Given the description of an element on the screen output the (x, y) to click on. 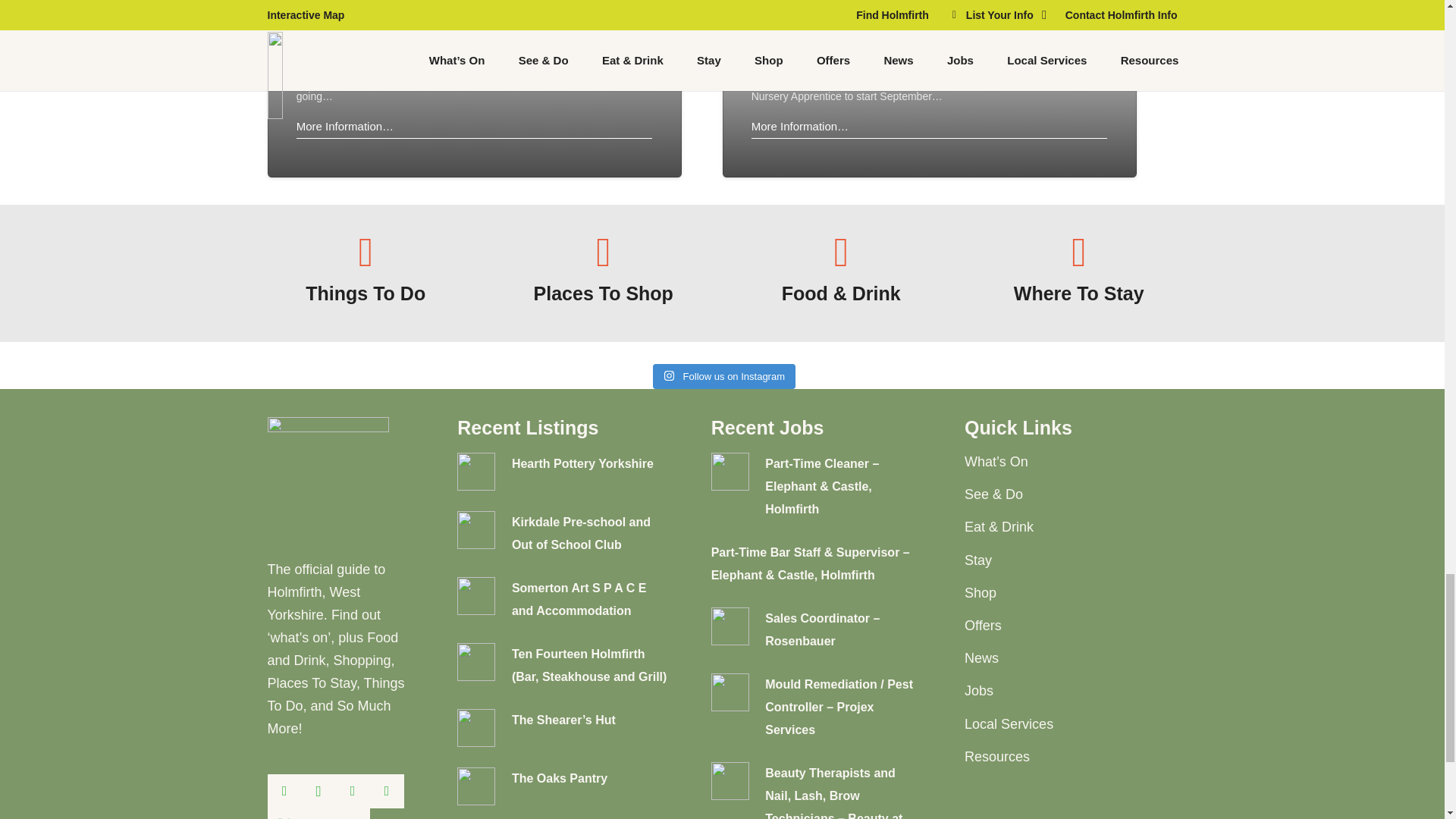
Instagram (318, 790)
YouTube (318, 813)
TikTok (351, 813)
LinkedIn (351, 790)
Twitter (283, 813)
Pinterest (386, 790)
Facebook (283, 790)
